Given the description of an element on the screen output the (x, y) to click on. 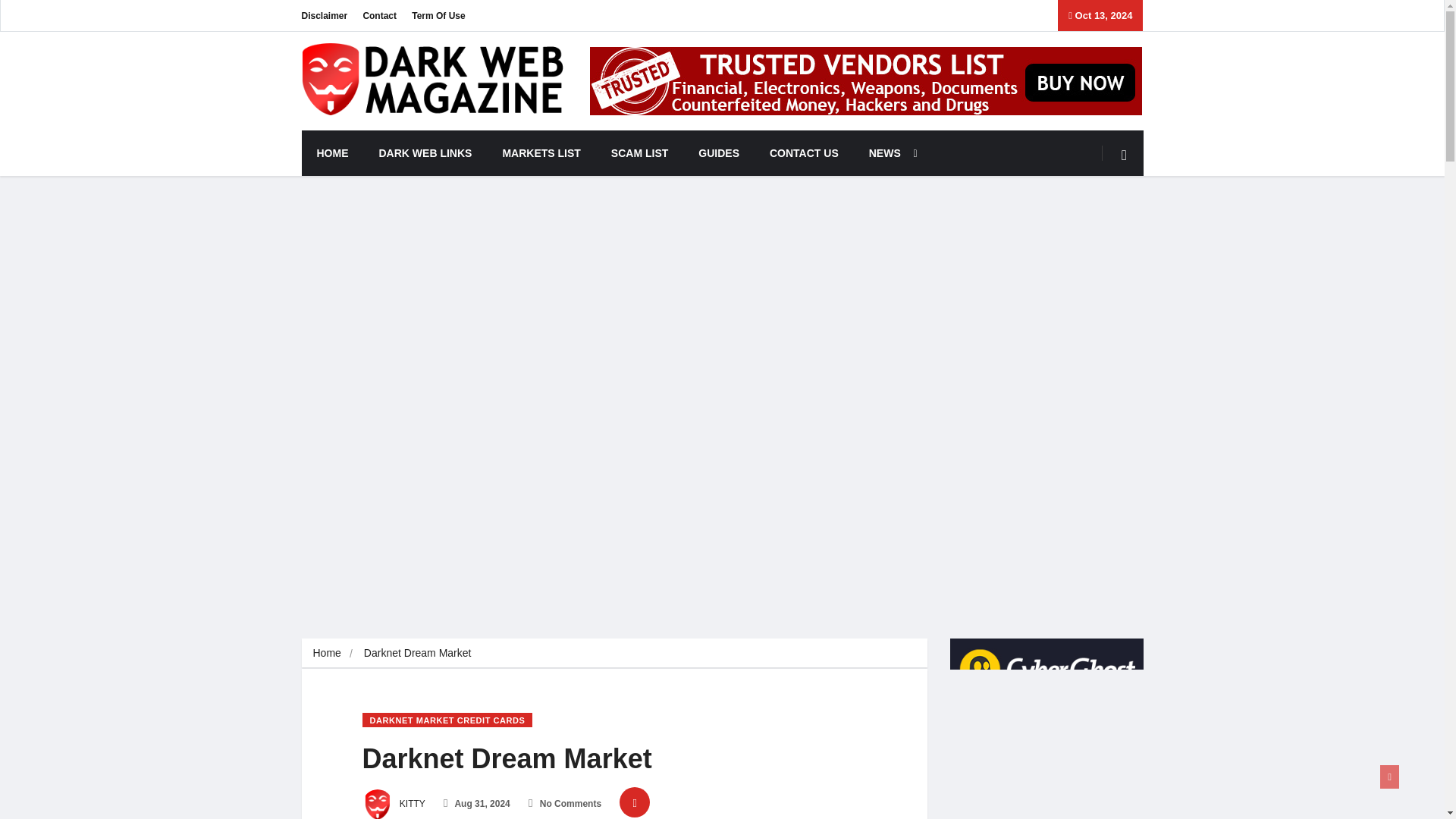
CONTACT US (803, 153)
DARKNET MARKET CREDIT CARDS (447, 719)
Term Of Use (438, 15)
GUIDES (718, 153)
SCAM LIST (638, 153)
Contact (379, 15)
NEWS (888, 153)
Disclaimer (324, 15)
MARKETS LIST (540, 153)
HOME (332, 153)
